Given the description of an element on the screen output the (x, y) to click on. 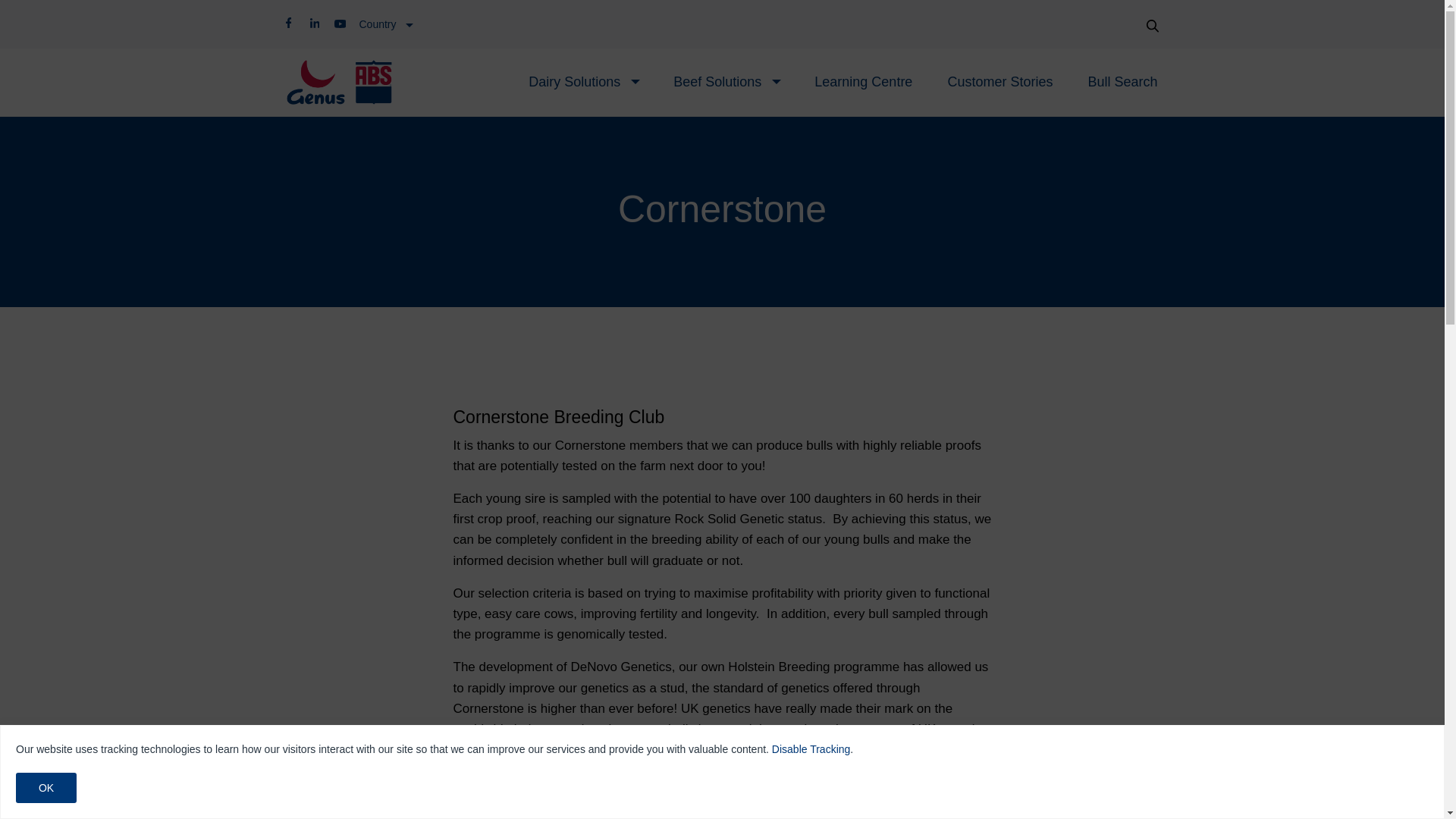
Customer Stories (999, 82)
Bull Search (1122, 82)
OK (46, 788)
Learning Centre (863, 82)
Beef Solutions (716, 82)
